Given the description of an element on the screen output the (x, y) to click on. 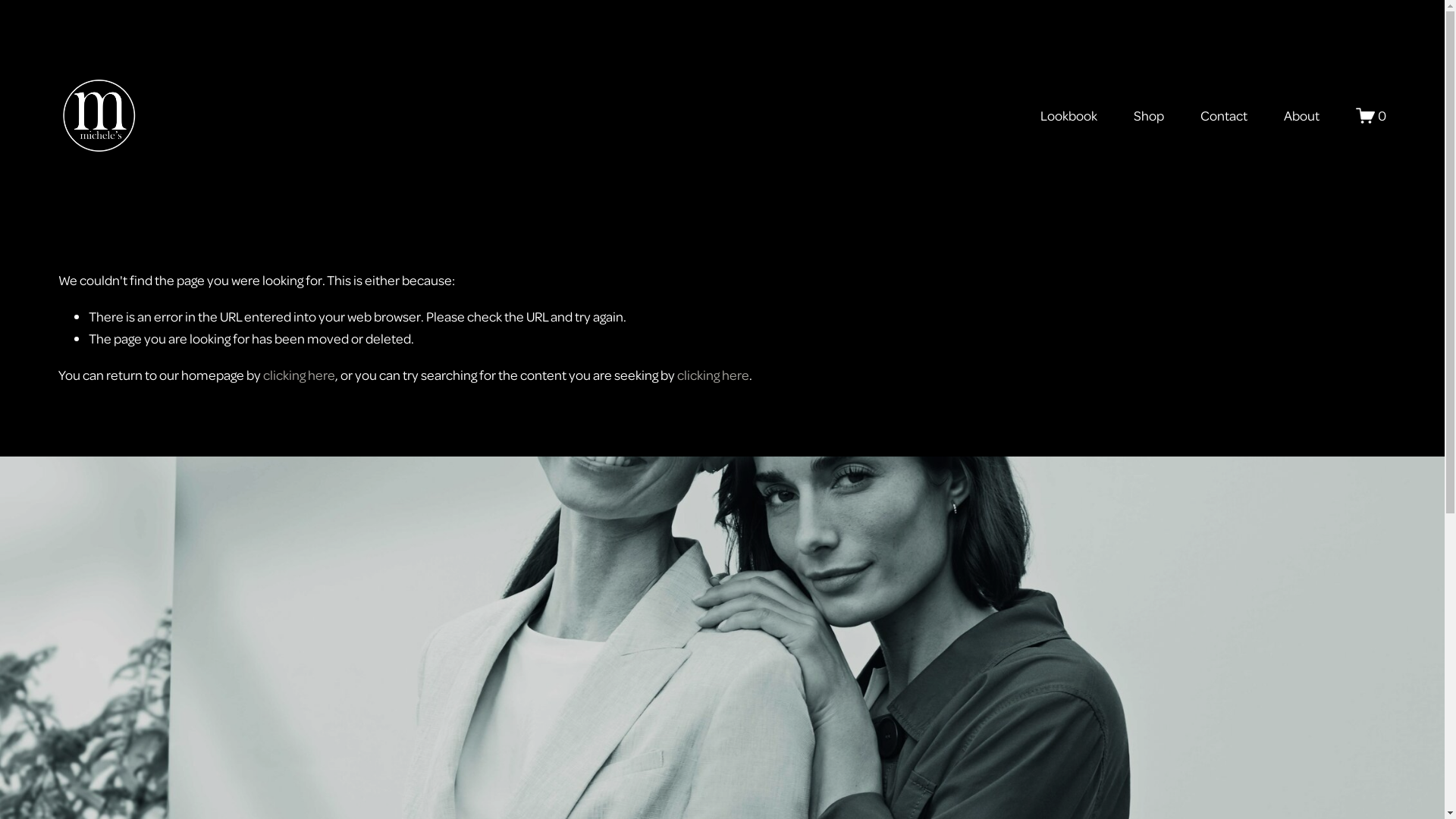
clicking here Element type: text (713, 374)
Lookbook Element type: text (1068, 115)
0 Element type: text (1370, 115)
clicking here Element type: text (299, 374)
Contact Element type: text (1223, 115)
Shop Element type: text (1148, 115)
About Element type: text (1301, 115)
